Given the description of an element on the screen output the (x, y) to click on. 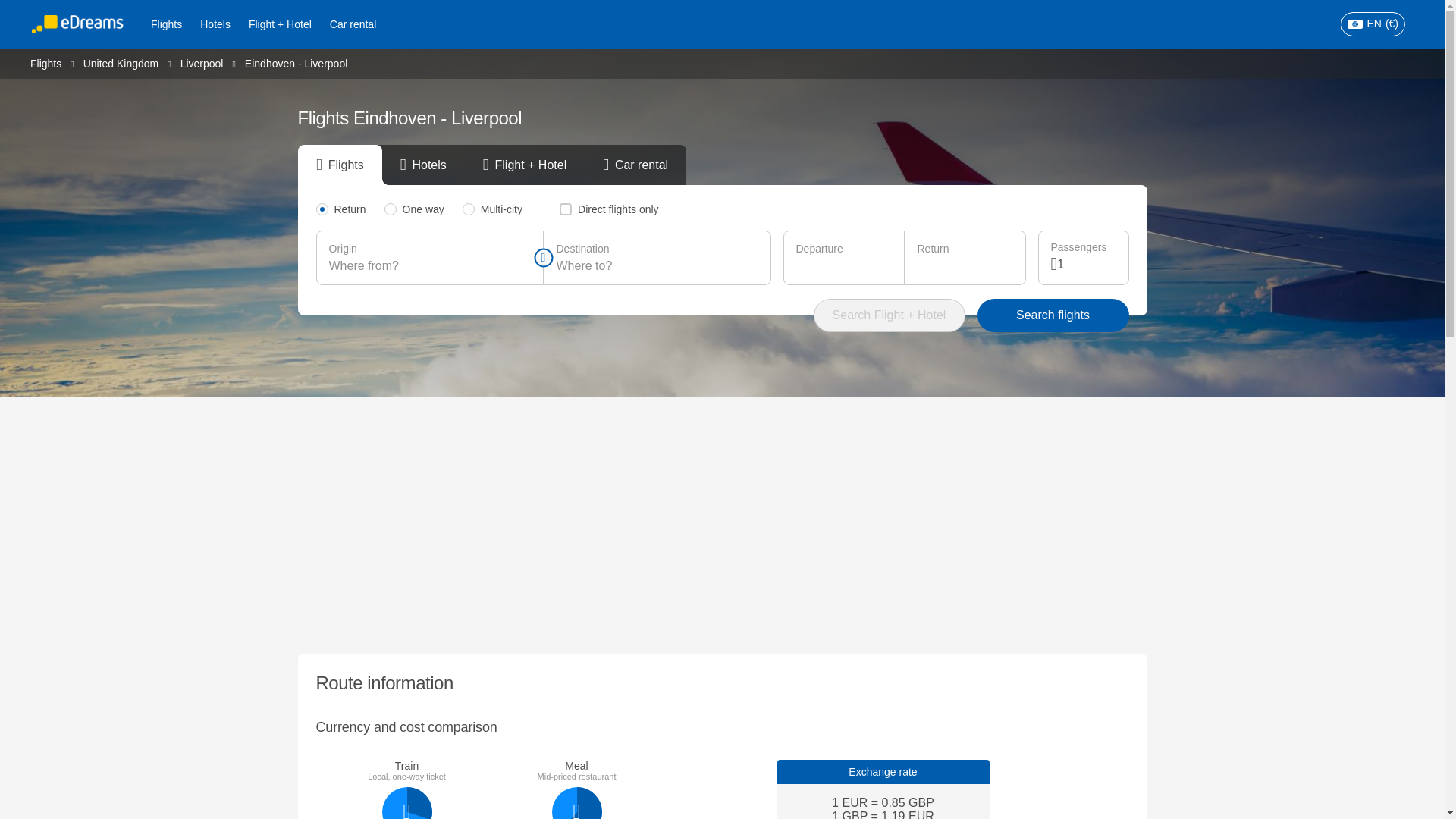
Flights (165, 24)
1 (1086, 263)
Hotels (215, 24)
United Kingdom (120, 62)
Car rental (352, 24)
Search flights (1052, 315)
Flights (45, 62)
Liverpool (202, 62)
Eindhoven - Liverpool (295, 63)
